Given the description of an element on the screen output the (x, y) to click on. 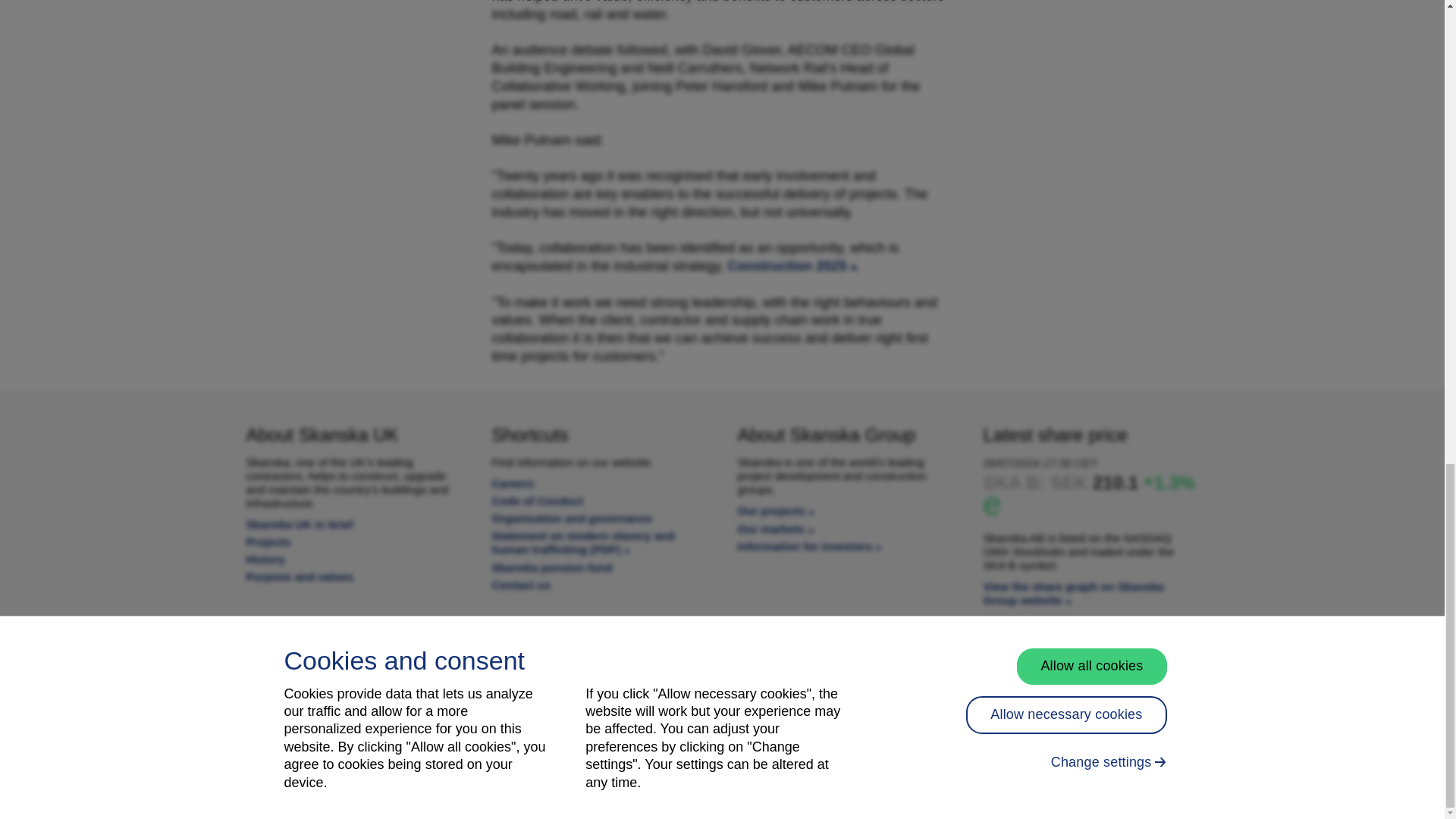
Latest share price (1072, 592)
Change country (353, 662)
Construction 2025 (791, 265)
